Given the description of an element on the screen output the (x, y) to click on. 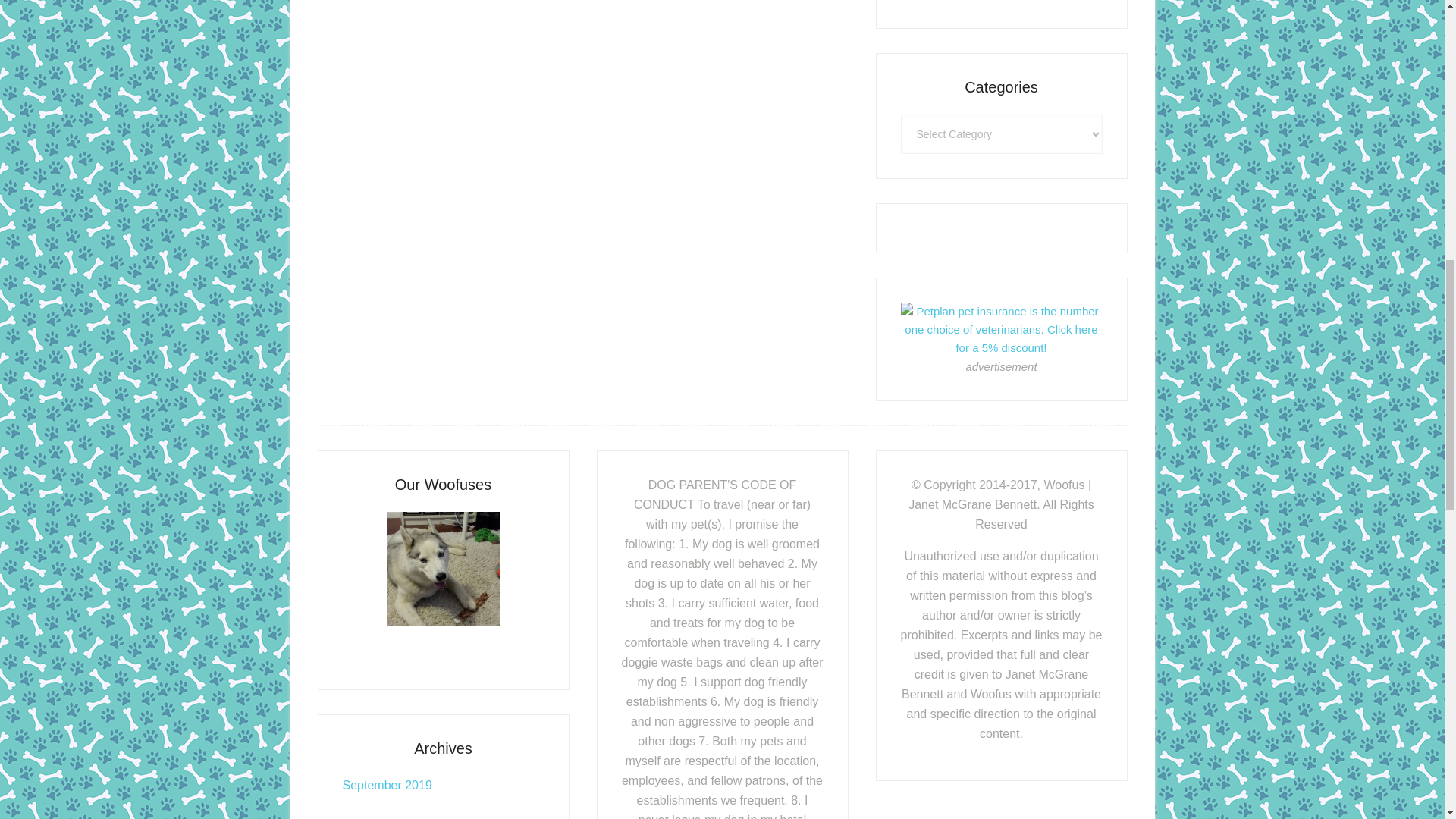
September 2019 (387, 784)
August 2019 (376, 818)
